Given the description of an element on the screen output the (x, y) to click on. 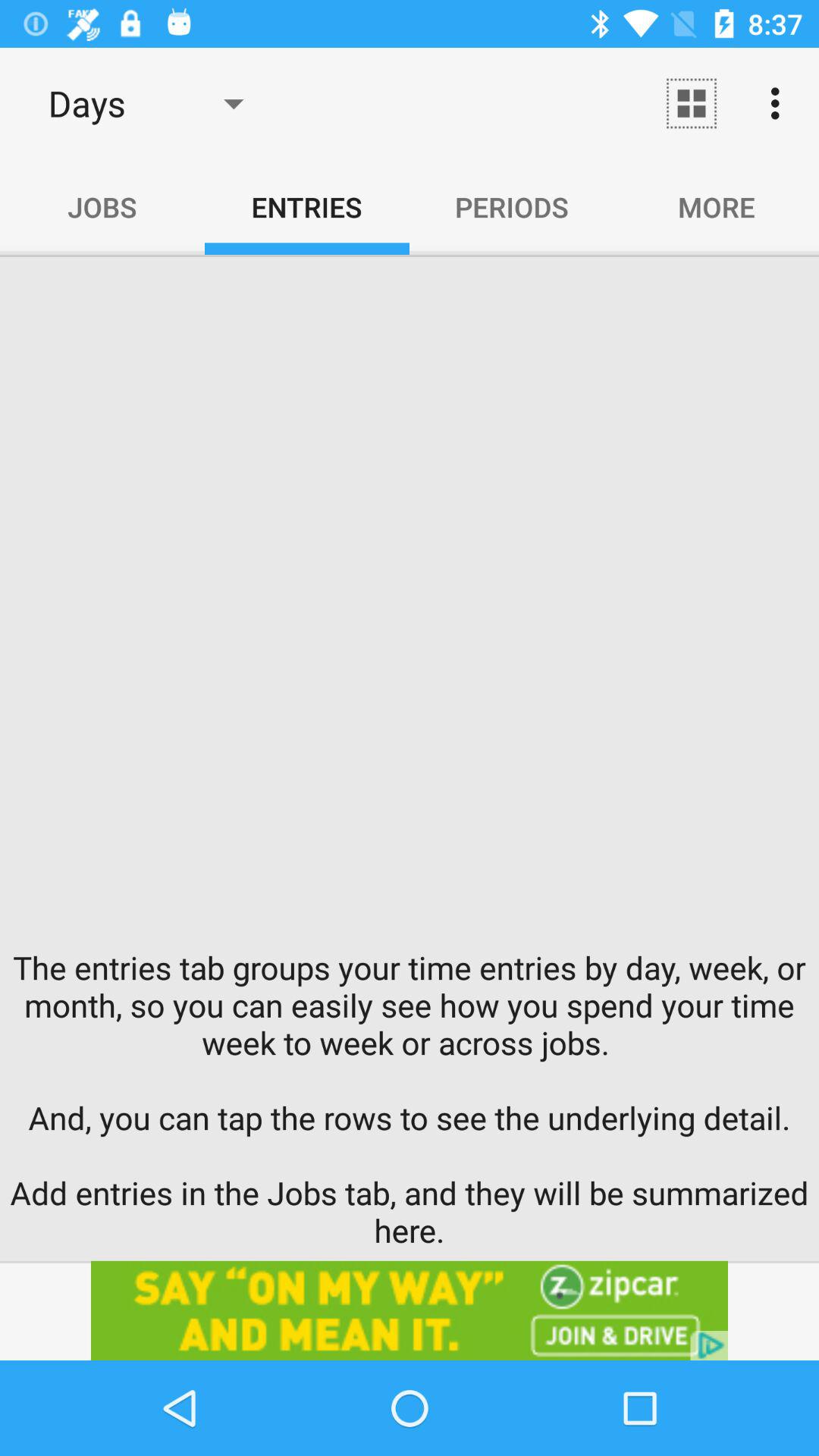
click advertisement (409, 1310)
